Given the description of an element on the screen output the (x, y) to click on. 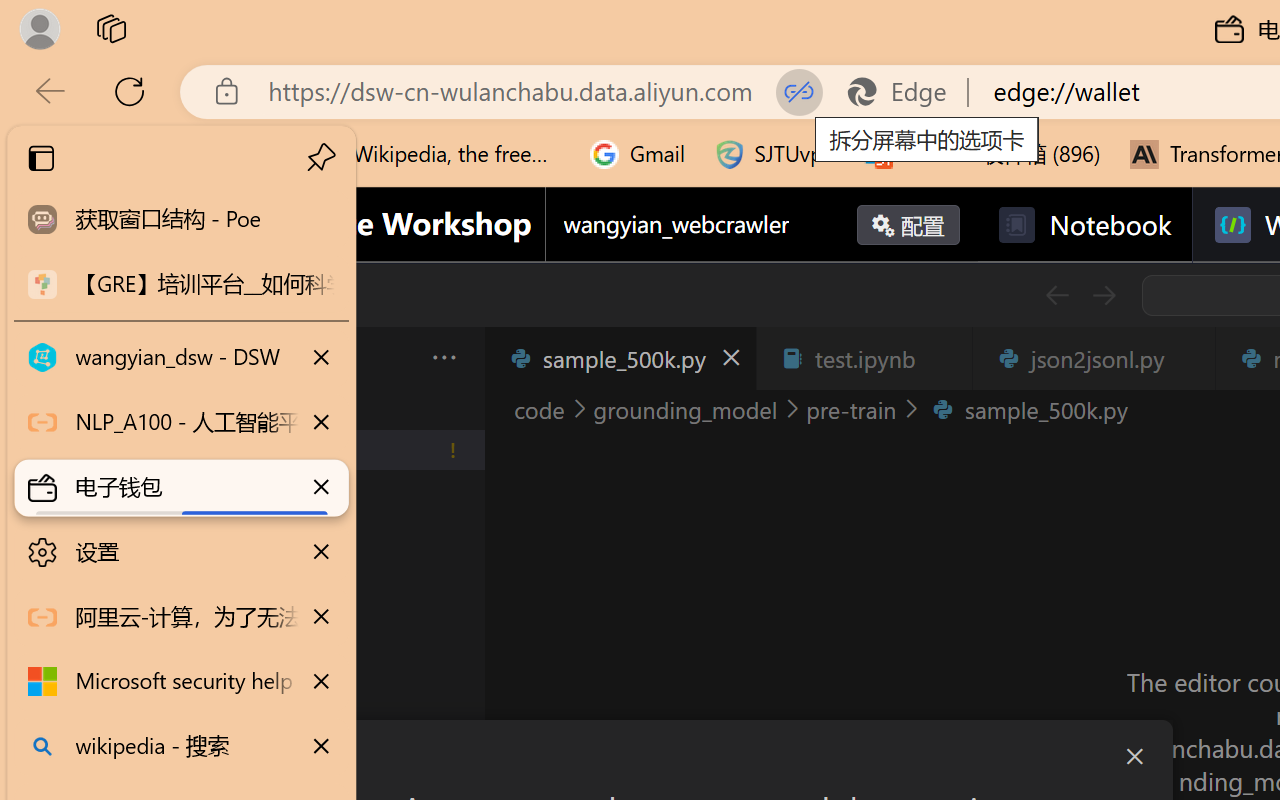
Close Dialog (1133, 756)
Class: actions-container (703, 756)
Source Control (Ctrl+Shift+G) (135, 604)
wangyian_dsw - DSW (181, 357)
Go Back (Alt+LeftArrow) (1055, 295)
Tab actions (1188, 358)
